Given the description of an element on the screen output the (x, y) to click on. 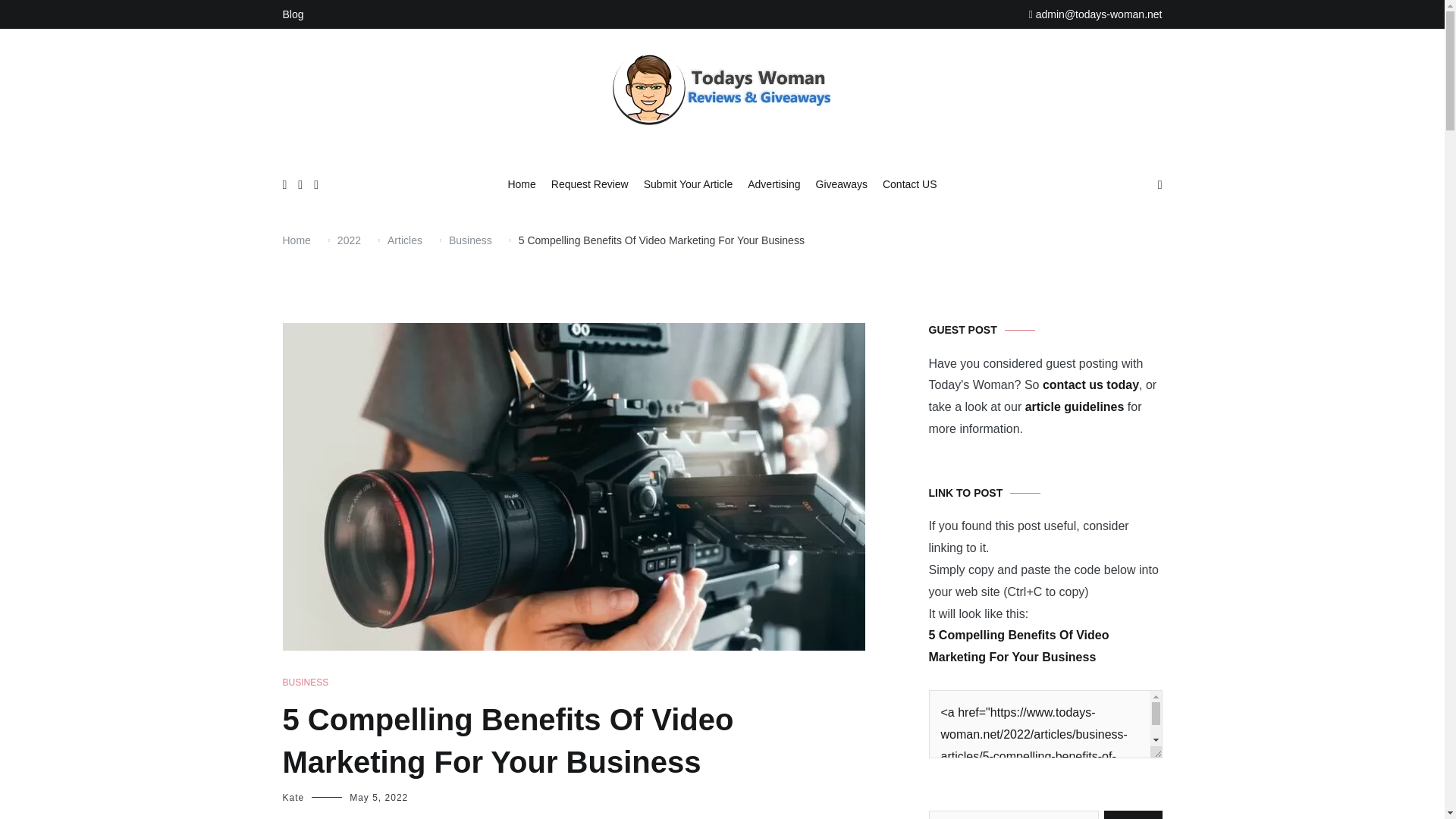
2022 (349, 240)
Request Review (589, 185)
Kate (293, 797)
May 5, 2022 (378, 797)
Articles (404, 240)
Search (1132, 814)
Submit Your Article (688, 185)
Today's Woman, Articles, Product Reviews and Giveaways (829, 165)
Home (296, 240)
BUSINESS (305, 682)
